Given the description of an element on the screen output the (x, y) to click on. 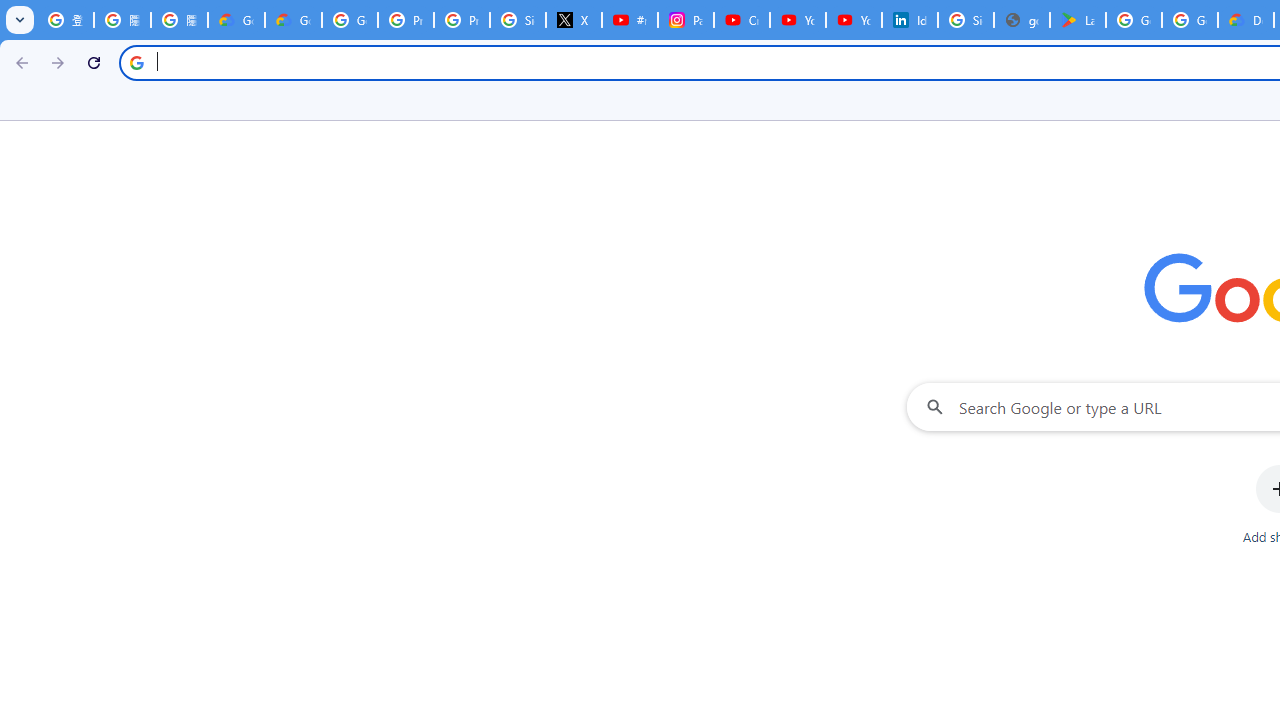
google_privacy_policy_en.pdf (1021, 20)
Google Cloud Privacy Notice (293, 20)
#nbabasketballhighlights - YouTube (629, 20)
Search icon (136, 62)
Google Workspace - Specific Terms (1190, 20)
YouTube Culture & Trends - YouTube Top 10, 2021 (853, 20)
